Given the description of an element on the screen output the (x, y) to click on. 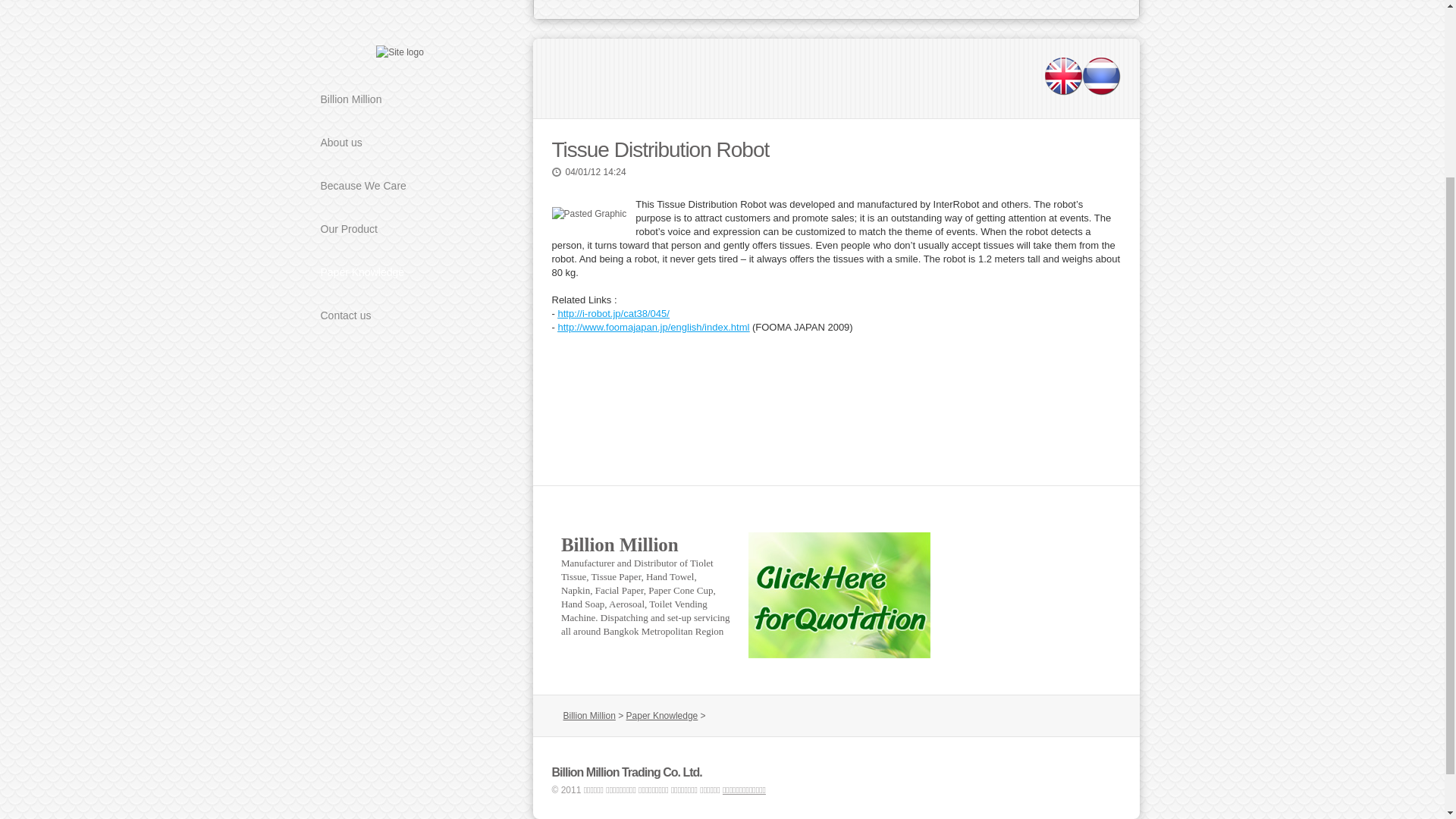
Paper Knowledge (398, 44)
Our Product (398, 11)
Contact us (398, 87)
